Given the description of an element on the screen output the (x, y) to click on. 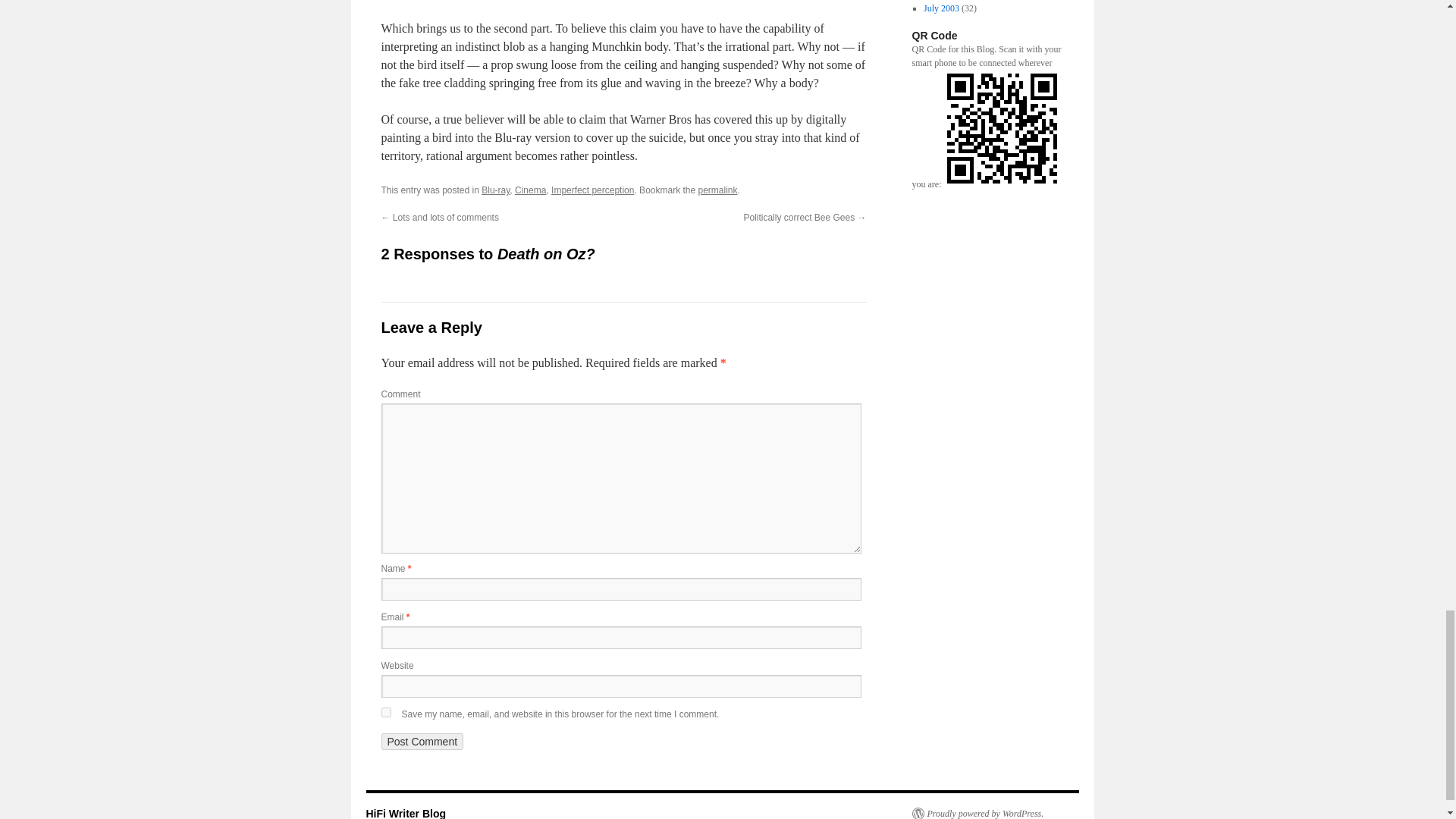
Blu-ray (495, 190)
Post Comment (421, 741)
permalink (716, 190)
yes (385, 712)
Post Comment (421, 741)
Permalink to Death on Oz? (716, 190)
Imperfect perception (592, 190)
Cinema (530, 190)
